Given the description of an element on the screen output the (x, y) to click on. 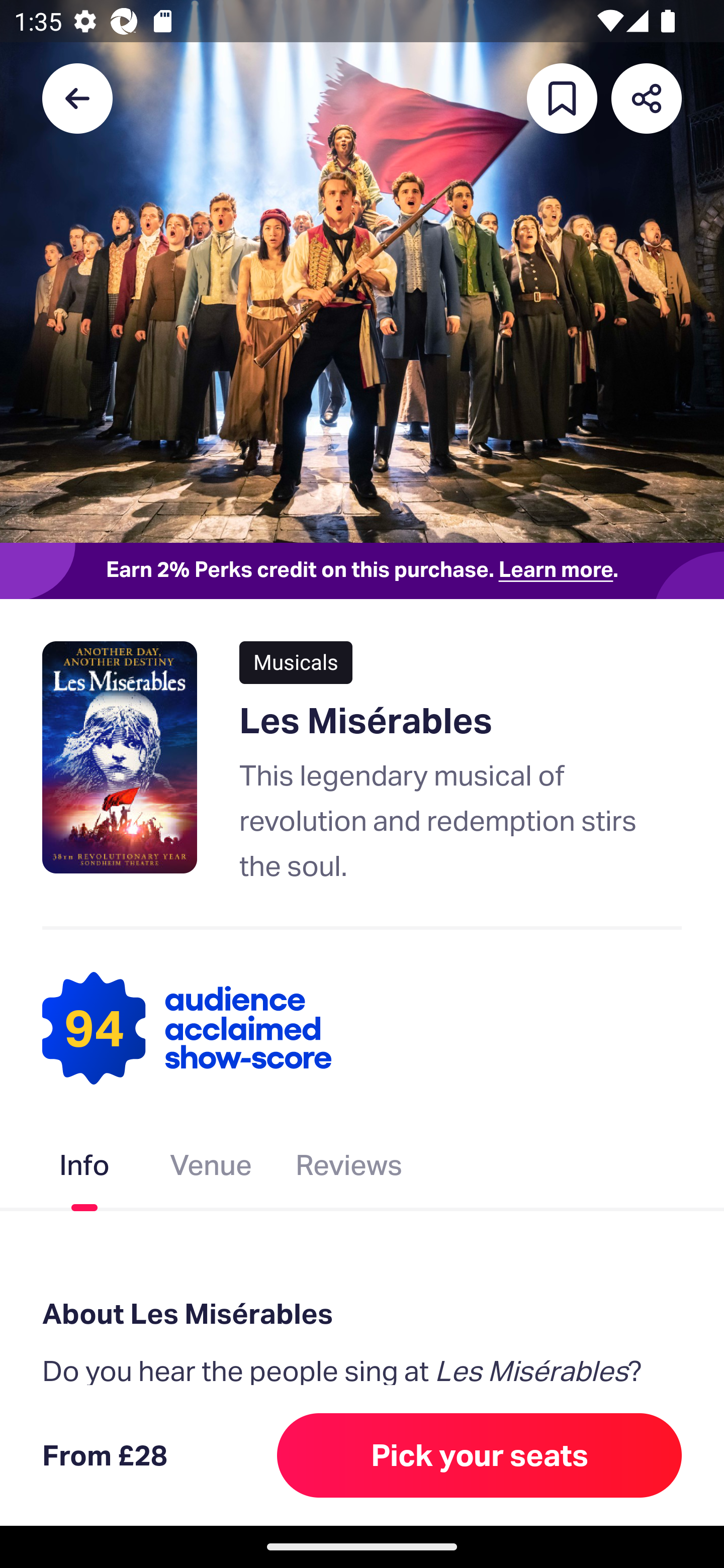
Earn 2% Perks credit on this purchase. Learn more. (362, 570)
Venue (210, 1168)
Reviews (348, 1168)
About Les Misérables (361, 1313)
Pick your seats (479, 1454)
